Given the description of an element on the screen output the (x, y) to click on. 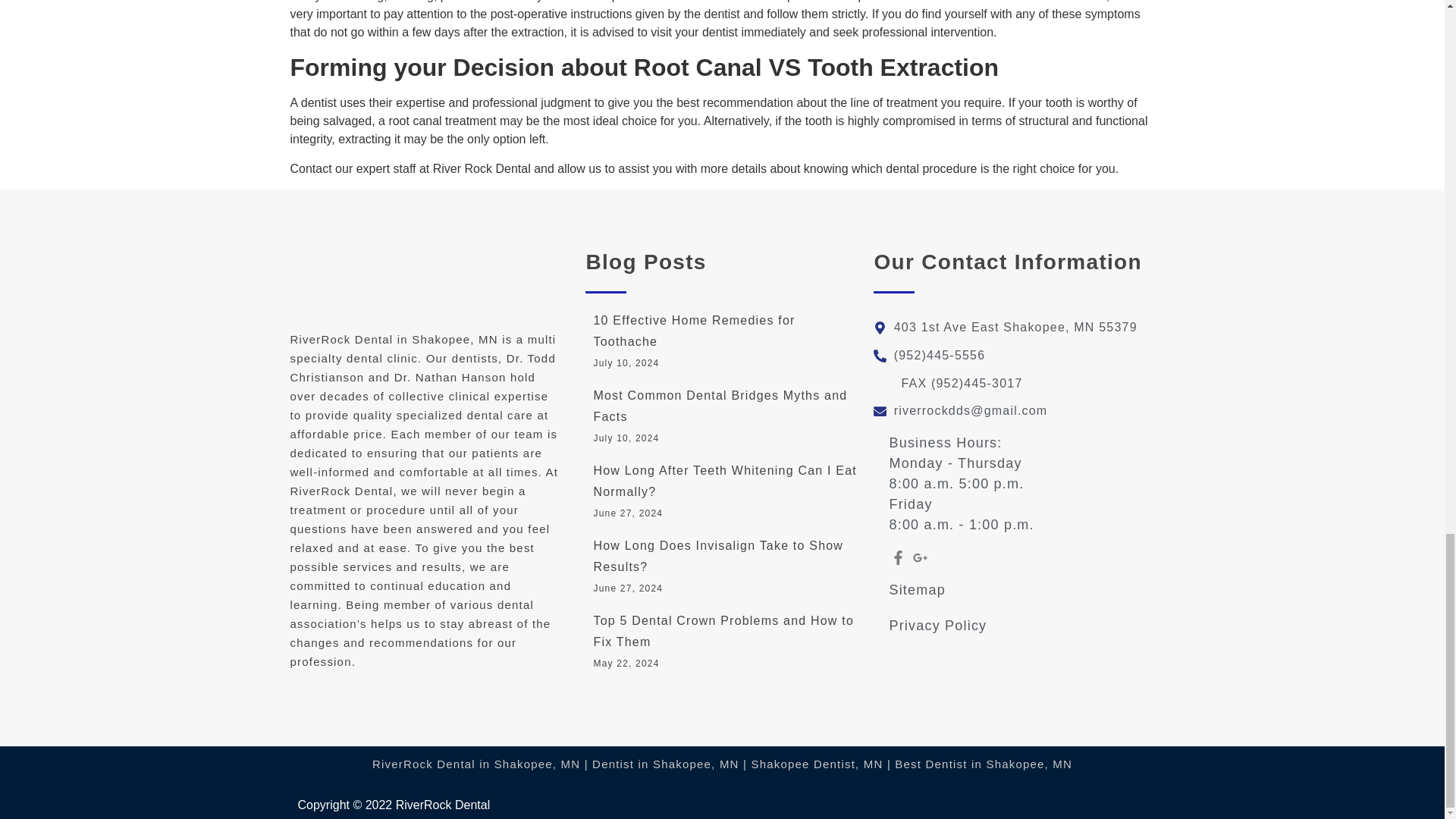
Best Family Dentist-Best Dental Care in Shakopee, MN (442, 804)
